Given the description of an element on the screen output the (x, y) to click on. 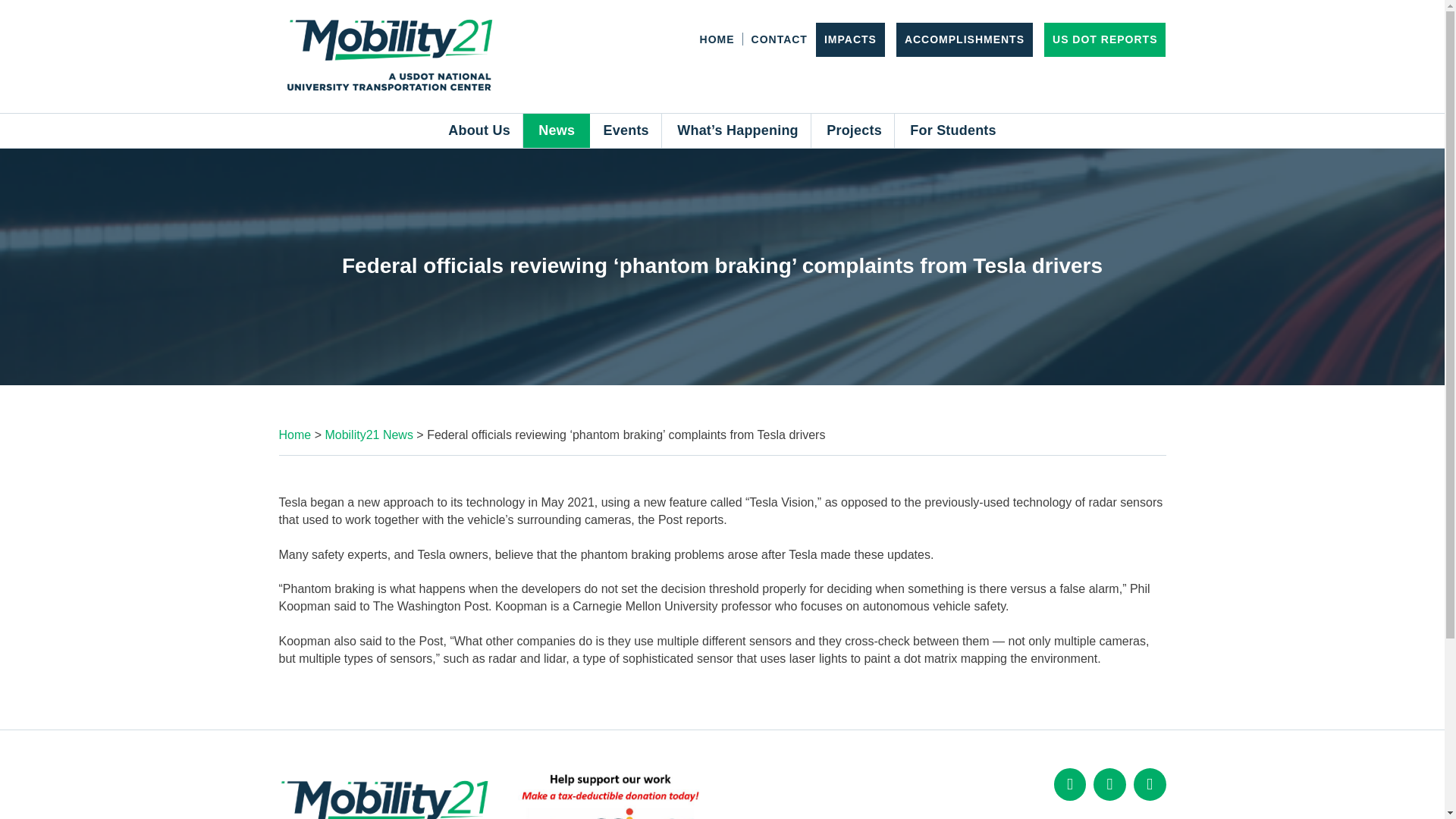
US DOT REPORTS (1104, 39)
Facebook (1070, 784)
YouTube (1150, 784)
Twitter (1109, 784)
HOME (717, 39)
IMPACTS (850, 39)
Go to the Mobility21 News category archives. (368, 434)
About Us (478, 130)
ACCOMPLISHMENTS (964, 39)
Go to M21. (295, 434)
